Given the description of an element on the screen output the (x, y) to click on. 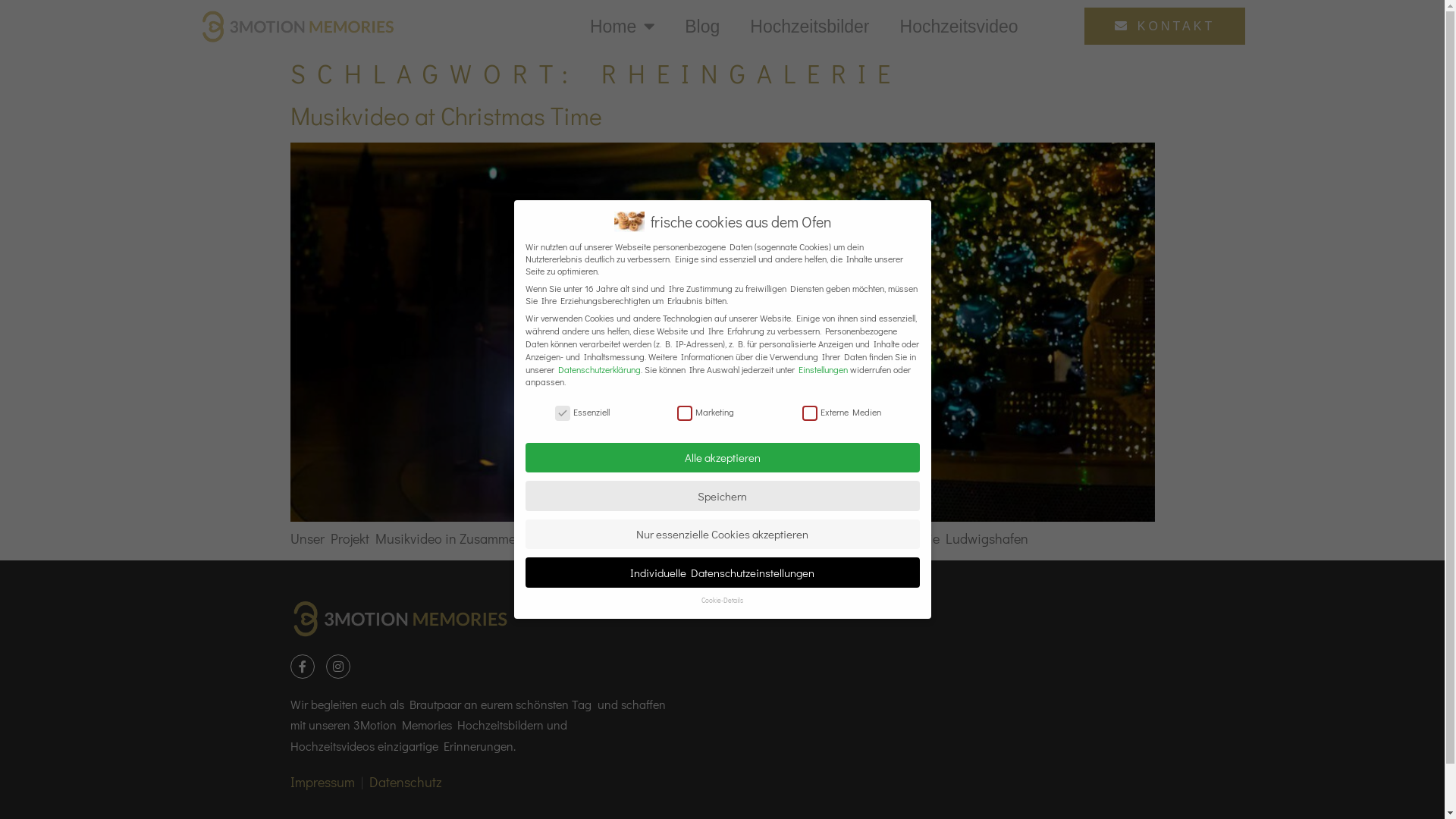
Hochzeitsvideo Element type: text (958, 25)
Cookie-Details Element type: text (722, 600)
KONTAKT Element type: text (1164, 25)
Musikvideo at Christmas Time Element type: text (445, 115)
Alle akzeptieren Element type: text (721, 457)
Einstellungen Element type: text (822, 369)
Speichern Element type: text (721, 495)
Nur essenzielle Cookies akzeptieren Element type: text (721, 534)
Hochzeitsbilder Element type: text (809, 25)
Individuelle Datenschutzeinstellungen Element type: text (721, 571)
Blog Element type: text (701, 25)
Impressum Element type: text (321, 781)
Datenschutz Element type: text (404, 781)
Home Element type: text (621, 25)
